Given the description of an element on the screen output the (x, y) to click on. 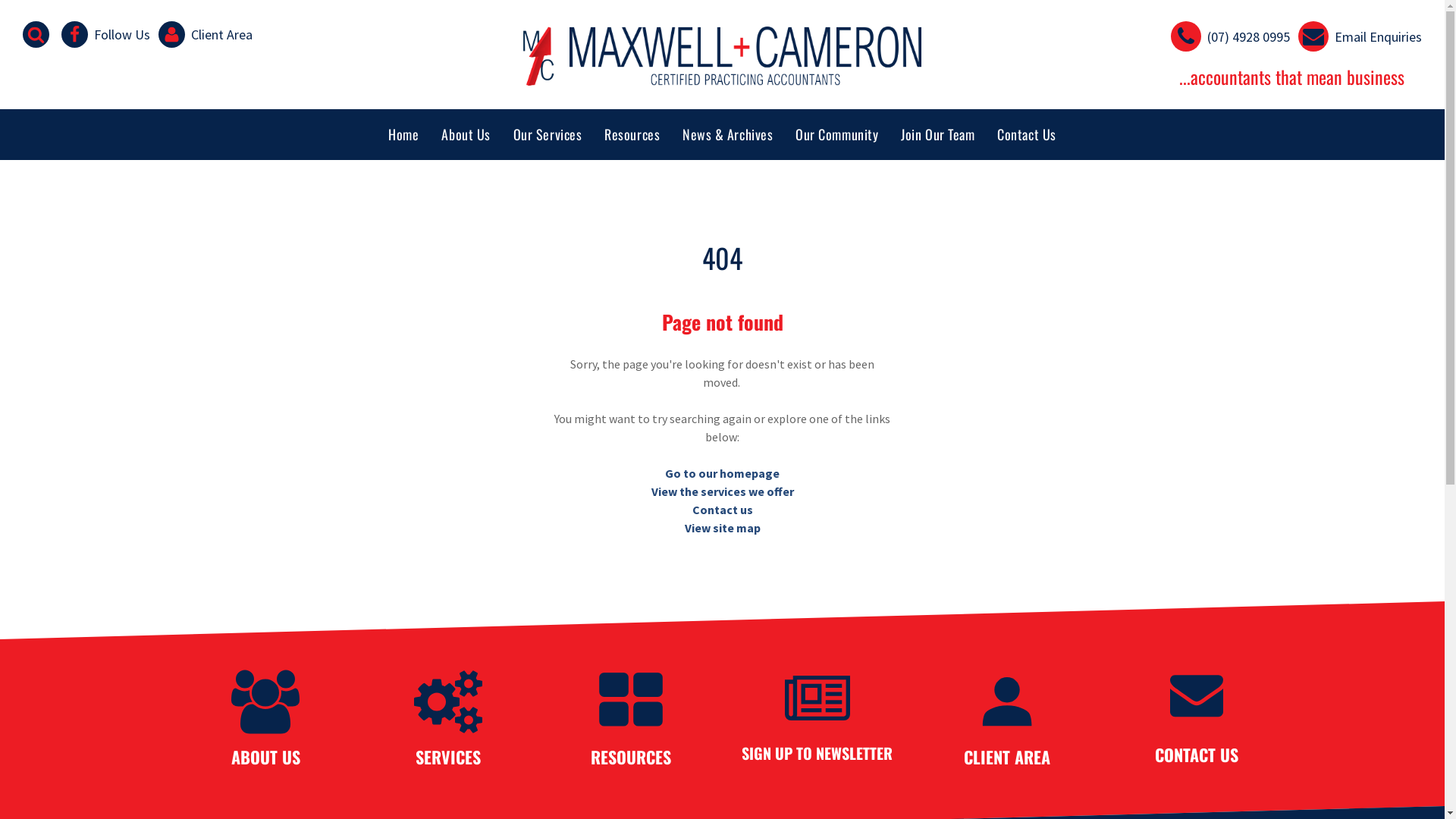
SERVICES Element type: text (447, 756)
View the services we offer Element type: text (721, 490)
RESOURCES Element type: text (630, 756)
About Us Element type: text (465, 134)
Join Our Team Element type: text (937, 134)
Our Services Element type: text (547, 134)
Contact us Element type: text (721, 509)
ABOUT US Element type: text (265, 756)
News & Archives Element type: text (727, 134)
Email Enquiries Element type: text (1359, 34)
Contact Us Element type: text (1025, 134)
Go to our homepage Element type: text (722, 472)
View site map Element type: text (721, 527)
Follow Us Element type: text (105, 32)
CLIENT AREA Element type: text (1006, 756)
SIGN UP TO NEWSLETTER Element type: text (816, 752)
(07) 4928 0995 Element type: text (1229, 34)
Our Community Element type: text (836, 134)
CONTACT US Element type: text (1195, 754)
Resources Element type: text (632, 134)
Home Element type: text (402, 134)
search Element type: text (37, 32)
Client Area Element type: text (205, 32)
